Given the description of an element on the screen output the (x, y) to click on. 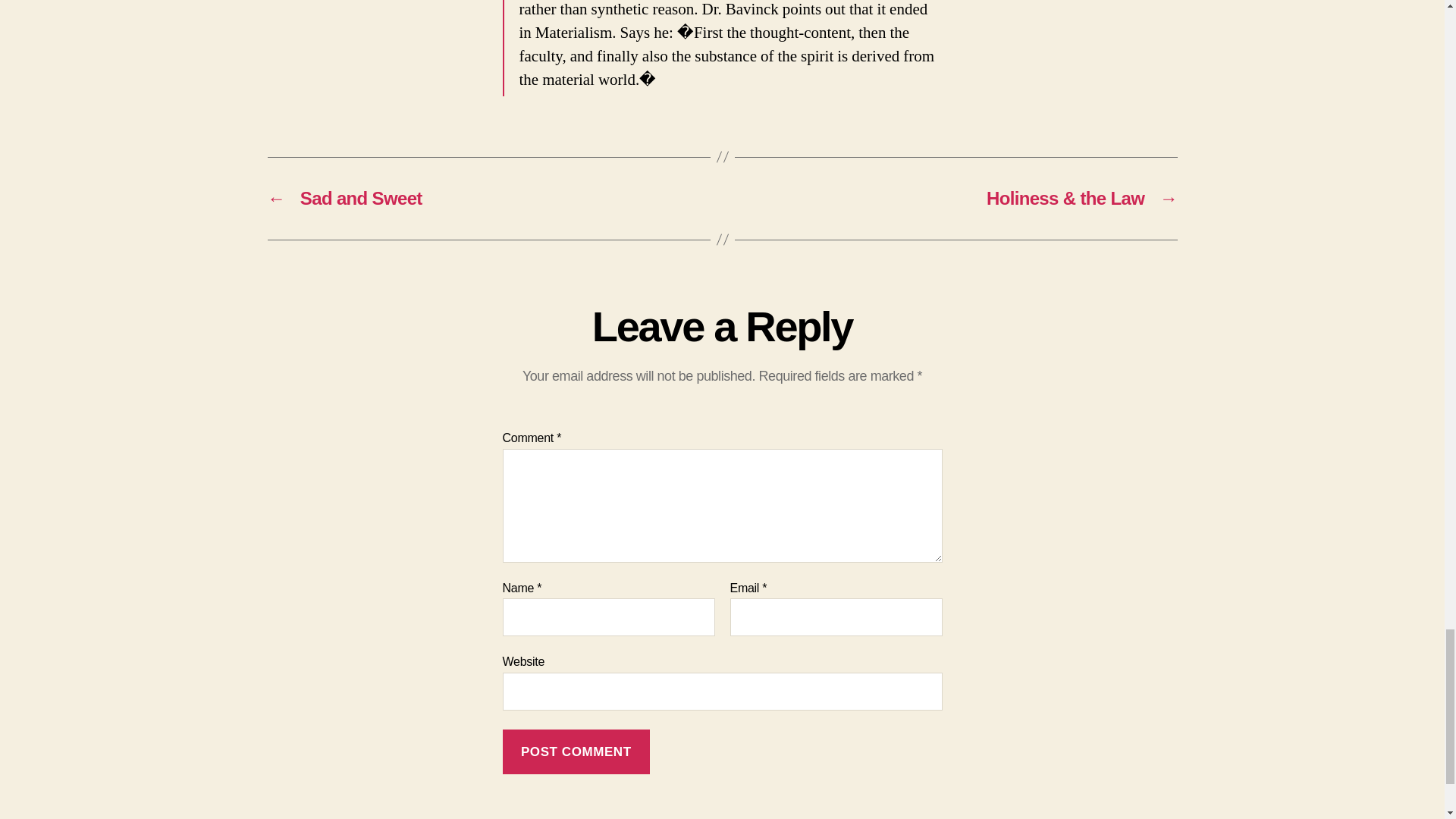
Post Comment (575, 751)
Post Comment (575, 751)
